Given the description of an element on the screen output the (x, y) to click on. 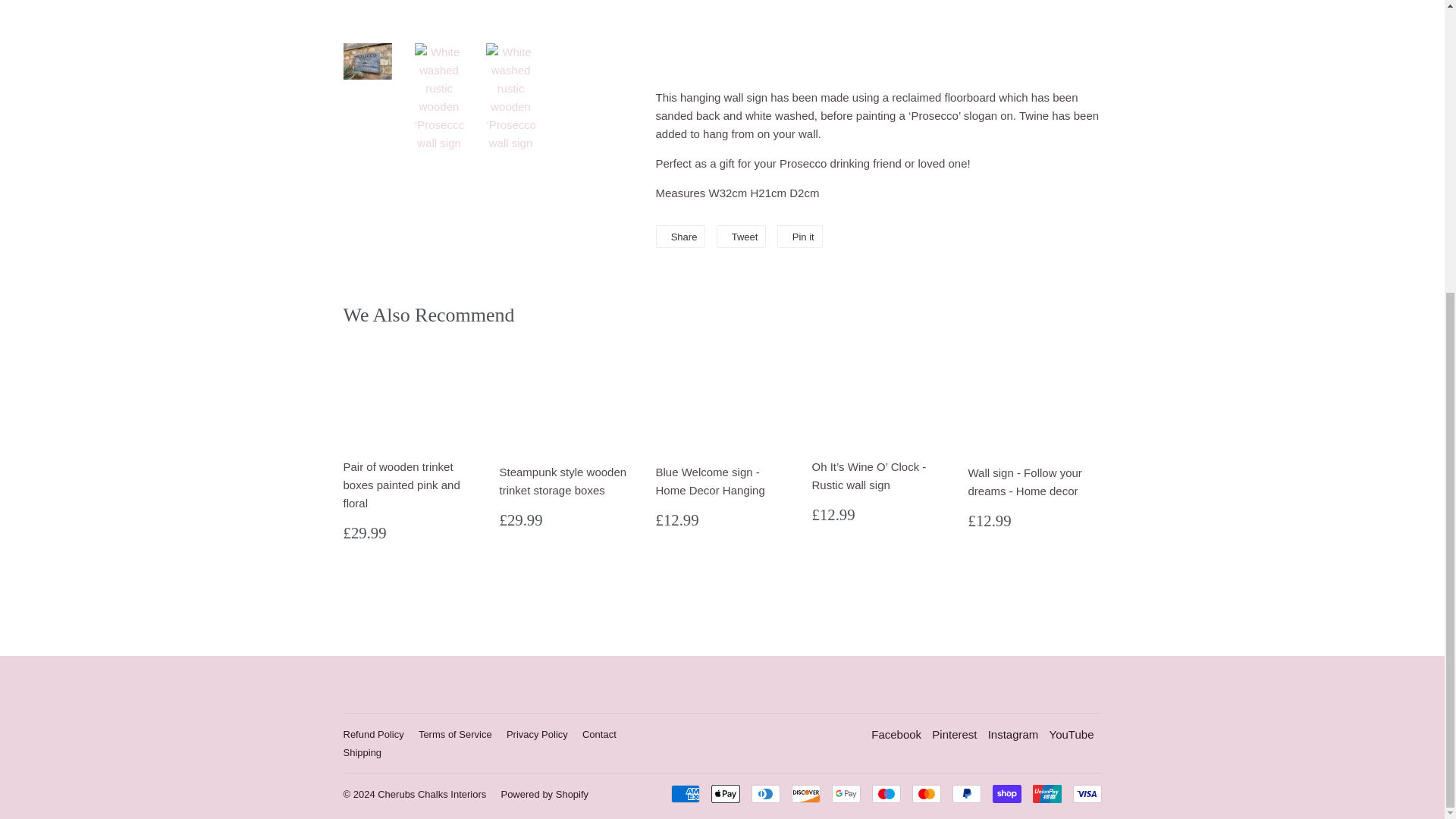
Visa (1085, 793)
Cherubs Chalks Interiors on Pinterest (953, 734)
Maestro (886, 793)
Cherubs Chalks Interiors on Instagram (1013, 734)
Share on Facebook (679, 236)
Cherubs Chalks Interiors on Facebook (895, 734)
Diners Club (764, 793)
Pin on Pinterest (799, 236)
PayPal (966, 793)
Shop Pay (1005, 793)
